Given the description of an element on the screen output the (x, y) to click on. 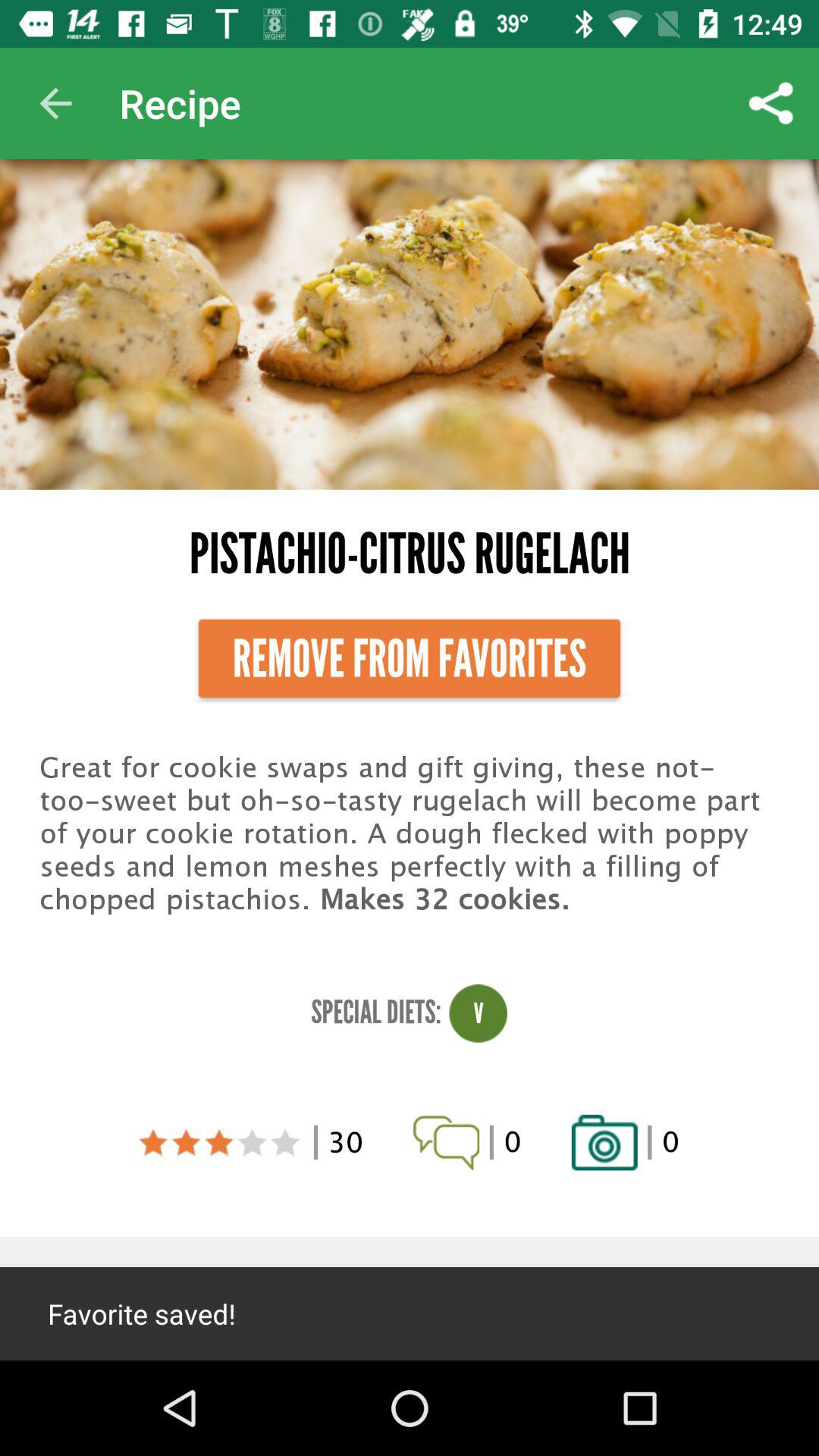
click on share icon (771, 103)
